Given the description of an element on the screen output the (x, y) to click on. 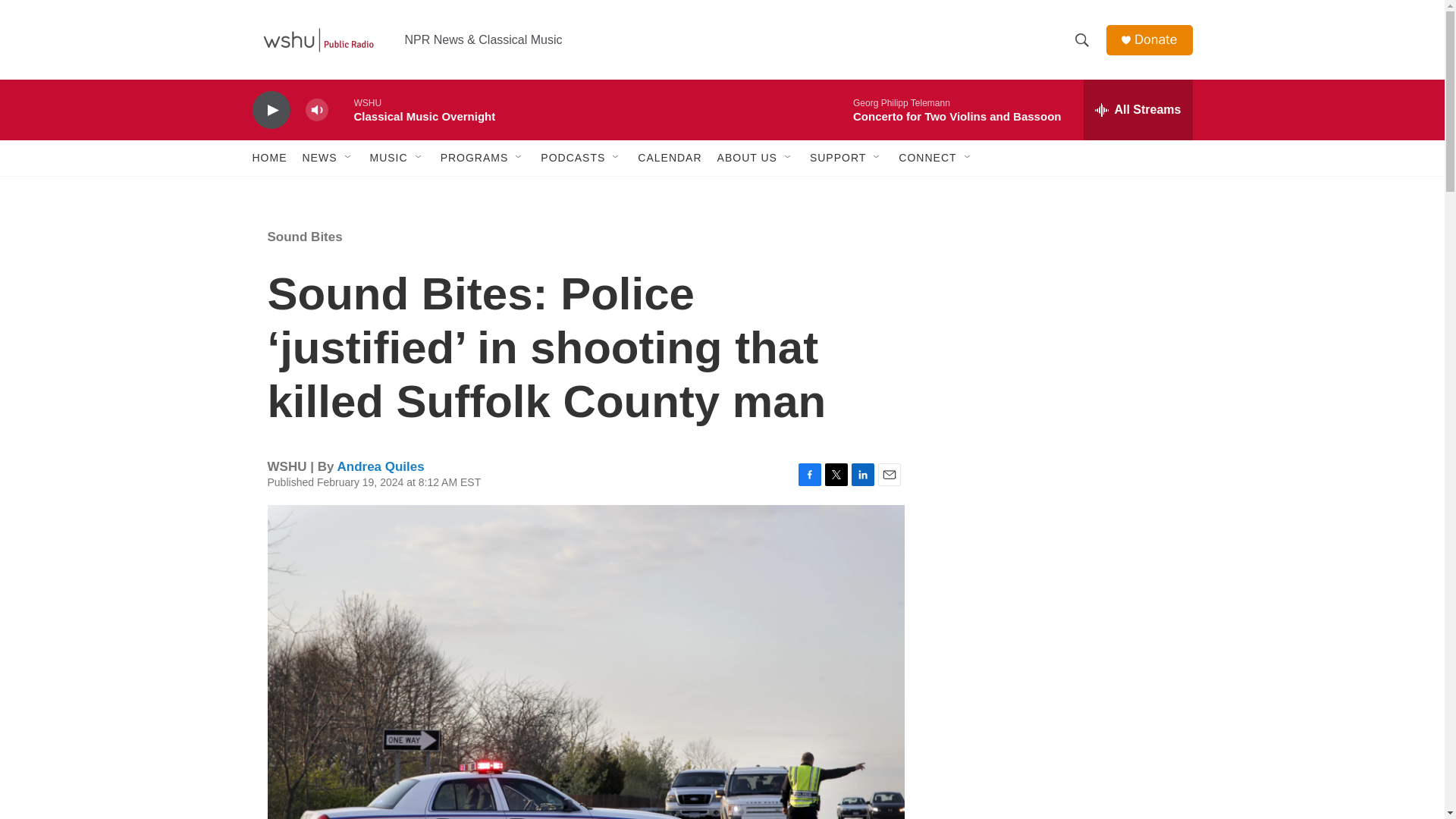
3rd party ad content (1062, 316)
3rd party ad content (1062, 740)
3rd party ad content (1062, 536)
